Given the description of an element on the screen output the (x, y) to click on. 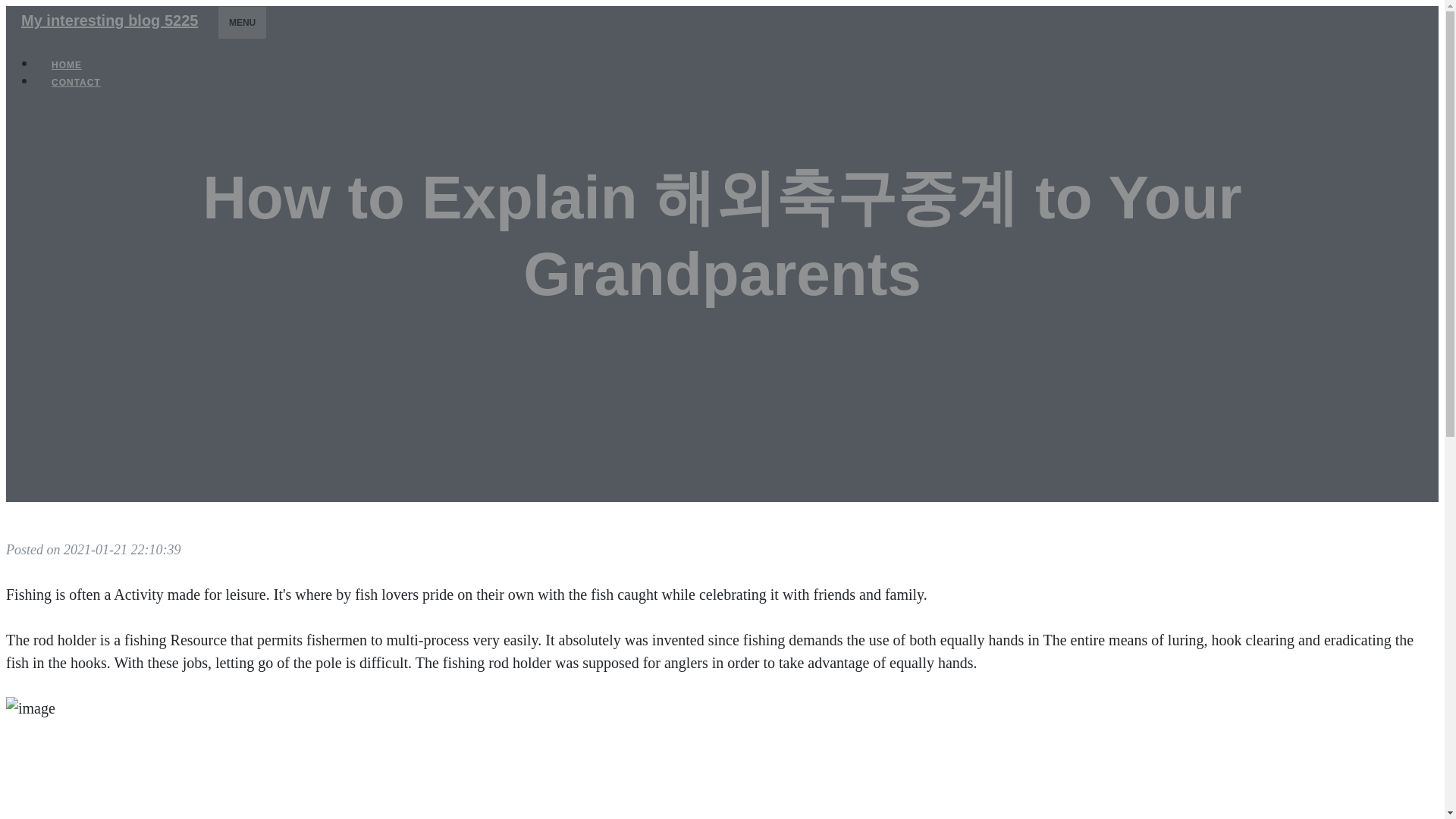
HOME (66, 64)
MENU (241, 22)
My interesting blog 5225 (108, 20)
CONTACT (76, 82)
